Given the description of an element on the screen output the (x, y) to click on. 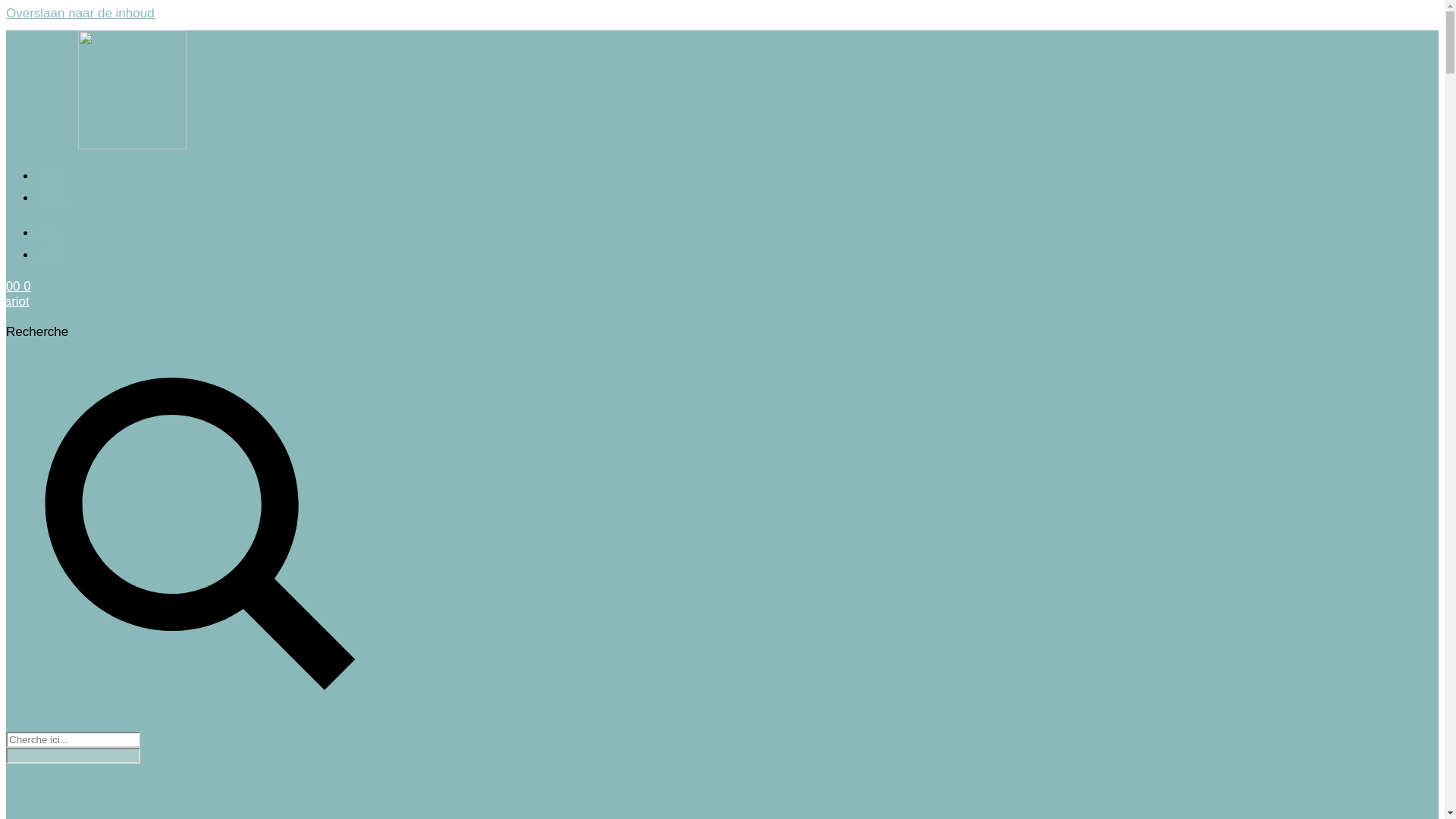
FR Element type: text (48, 252)
NL Element type: text (48, 230)
NL Element type: text (52, 173)
FR Element type: text (53, 195)
Overslaan naar de inhoud Element type: text (80, 13)
